Given the description of an element on the screen output the (x, y) to click on. 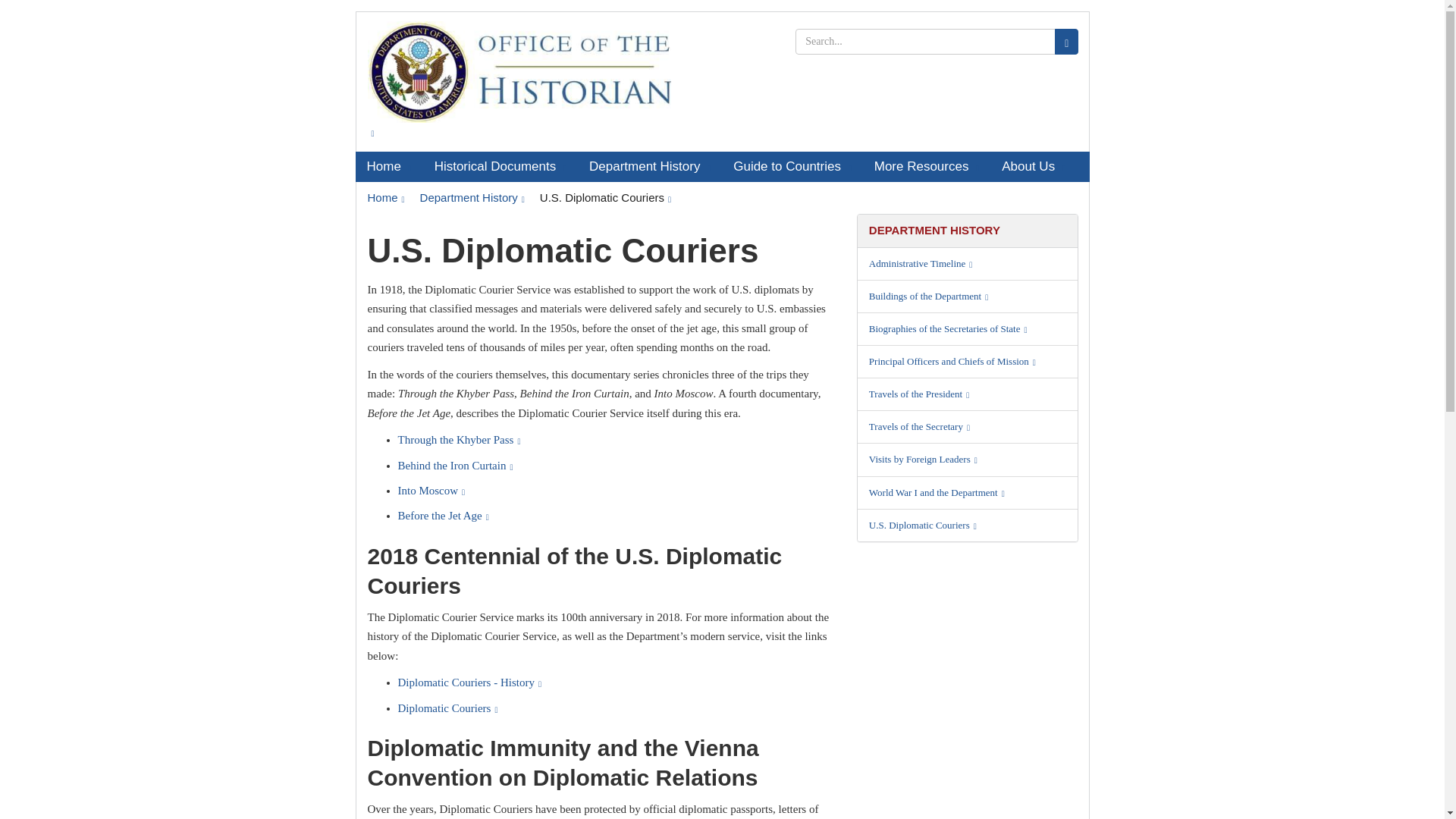
Through the Khyber Pass (458, 439)
Home (385, 196)
Home (388, 166)
U.S. Diplomatic Couriers (605, 196)
Department History (472, 196)
Guide to Countries (792, 166)
About Us (1033, 166)
Department History (650, 166)
Historical Documents (500, 166)
More Resources (926, 166)
